Given the description of an element on the screen output the (x, y) to click on. 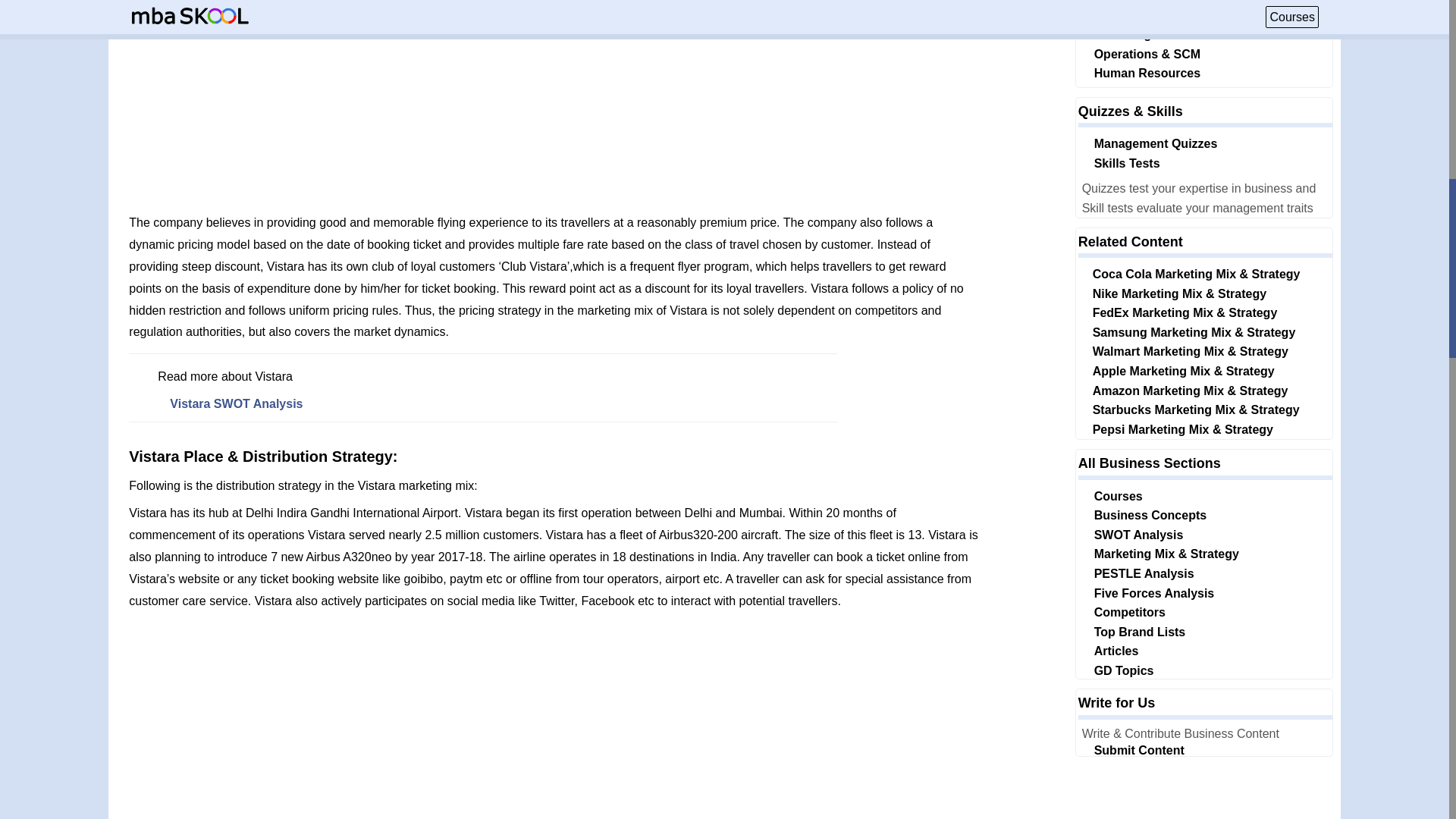
Human Resources (1147, 72)
Vistara SWOT Analysis (236, 403)
Marketing (1122, 33)
Management Quizzes (1155, 143)
Skills Tests (1127, 163)
